Given the description of an element on the screen output the (x, y) to click on. 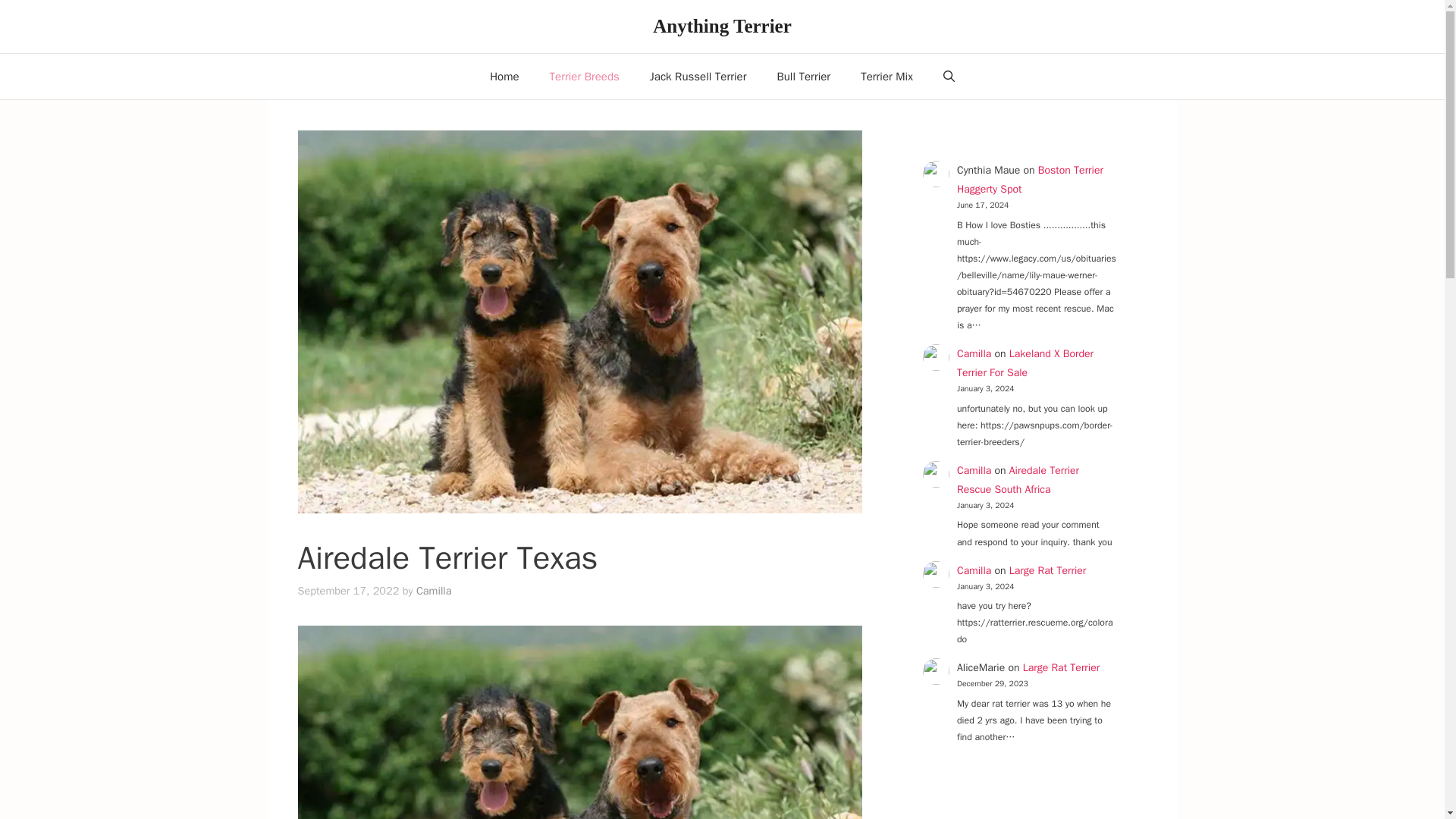
Large Rat Terrier (1047, 570)
Airedale Terrier Rescue South Africa (1017, 480)
Camilla (973, 470)
Terrier Breeds (584, 76)
Jack Russell Terrier (697, 76)
Boston Terrier Haggerty Spot (1029, 179)
Camilla (433, 590)
Bull Terrier (803, 76)
Lakeland X Border Terrier For Sale (1024, 363)
View all posts by Camilla (433, 590)
Large Rat Terrier (1061, 667)
Camilla (973, 353)
Anything Terrier (722, 25)
Camilla (973, 570)
Terrier Mix (886, 76)
